Given the description of an element on the screen output the (x, y) to click on. 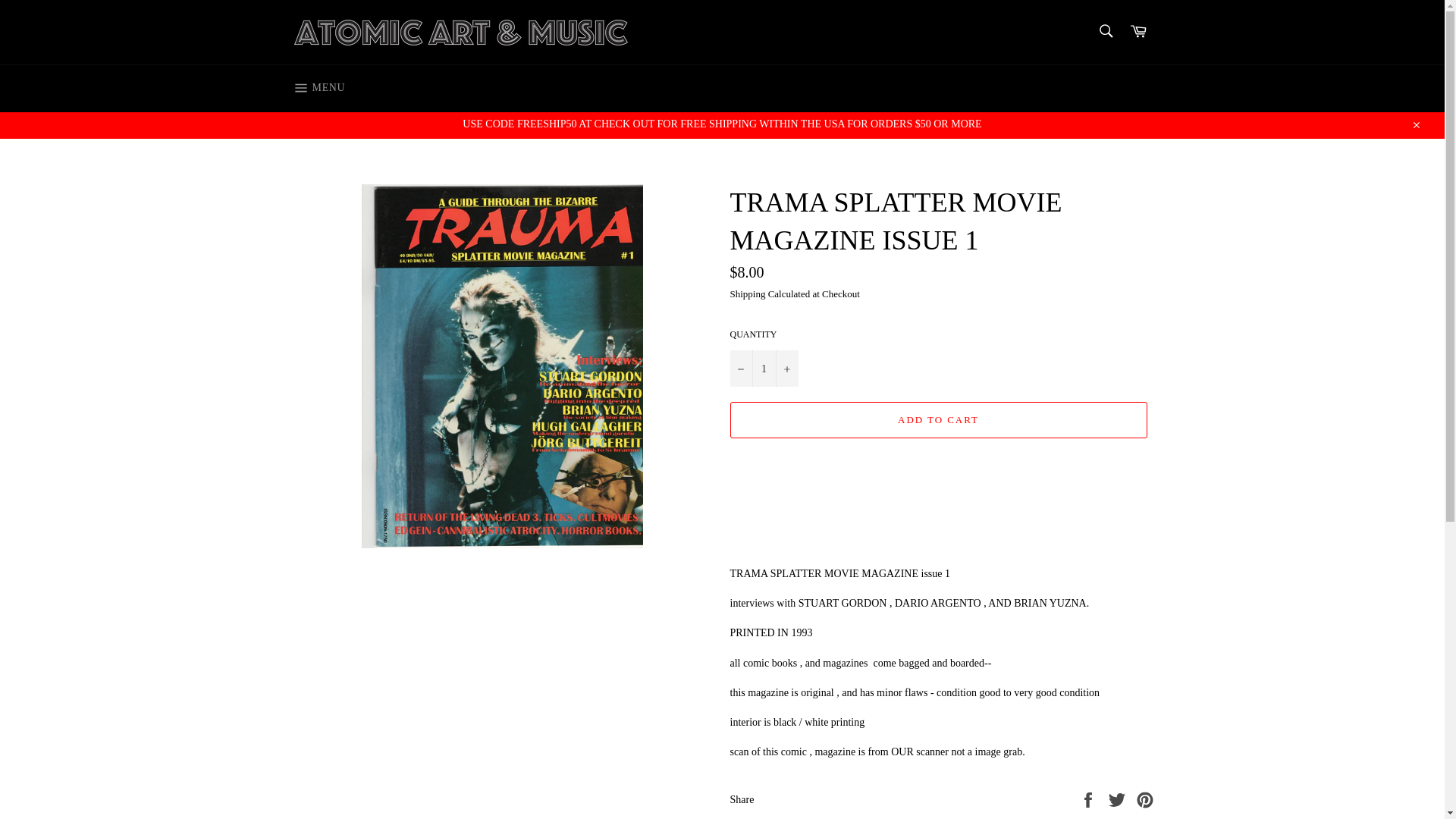
1 (763, 368)
Share on Facebook (1089, 798)
Pin on Pinterest (1144, 798)
Tweet on Twitter (1118, 798)
